Given the description of an element on the screen output the (x, y) to click on. 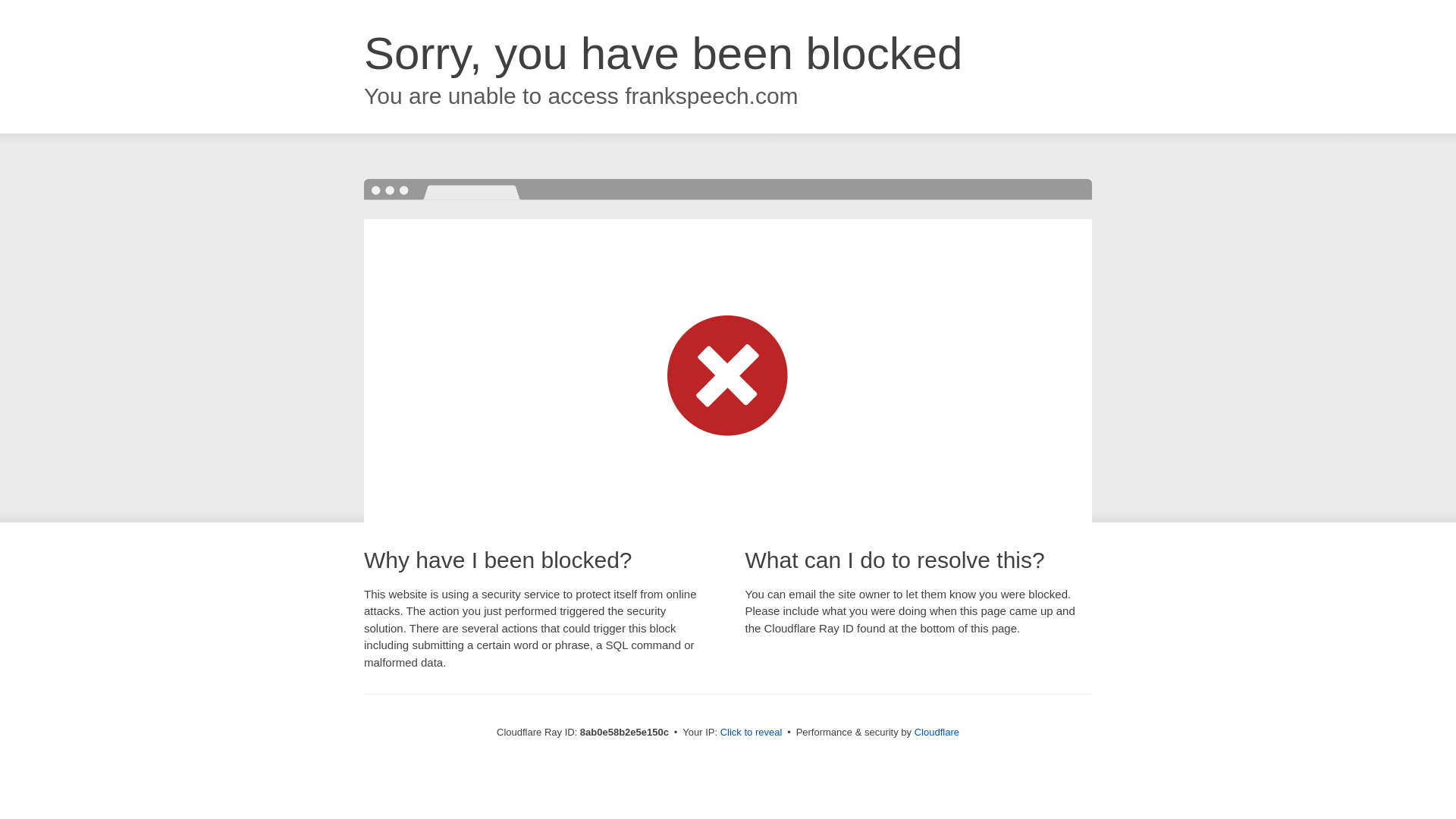
Click to reveal (751, 732)
Cloudflare (936, 731)
